Given the description of an element on the screen output the (x, y) to click on. 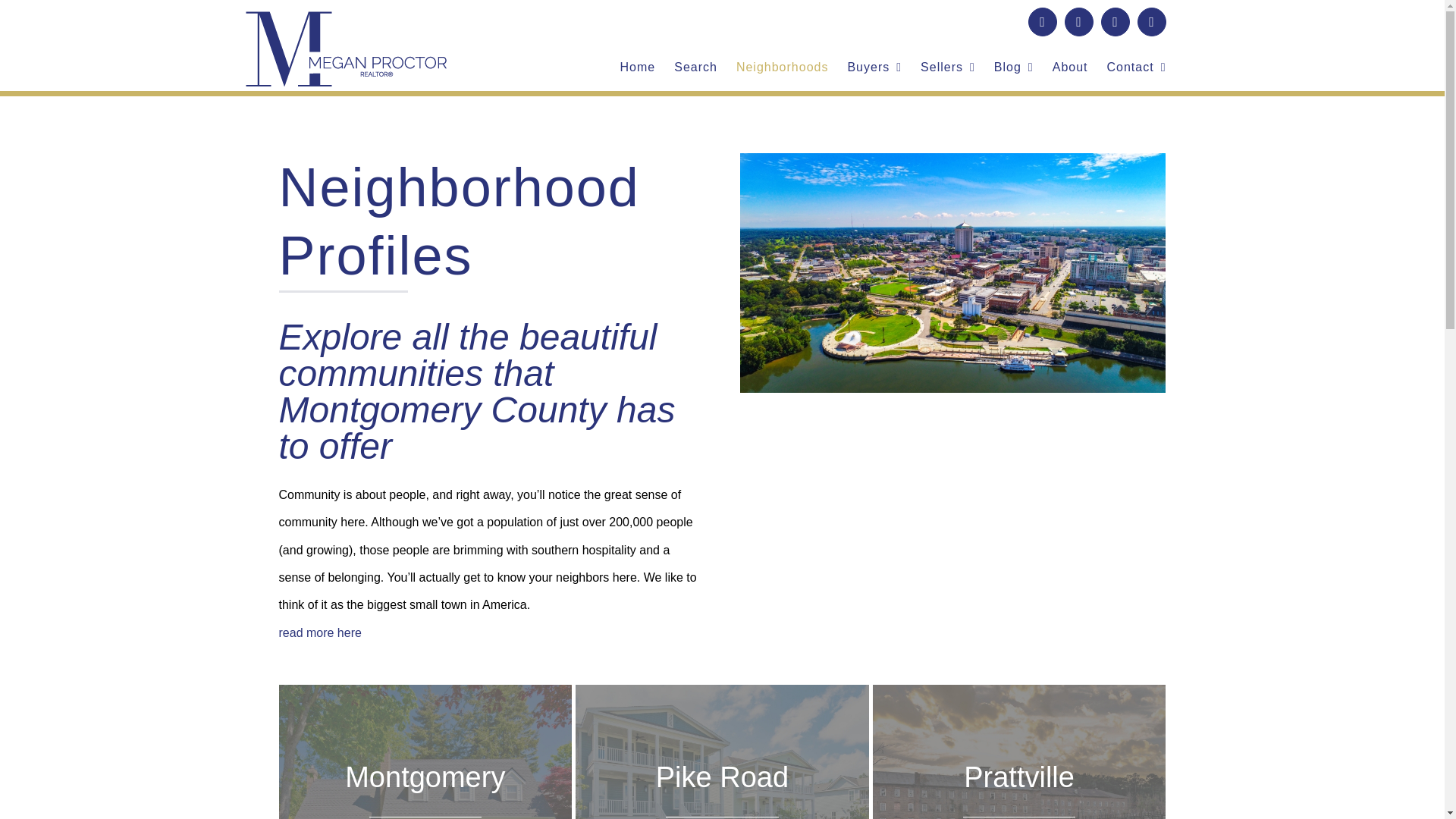
Contact (1136, 67)
LinkedIn (1151, 21)
Neighborhoods (782, 67)
Instagram (1078, 21)
Search (695, 67)
Email (1114, 21)
Sellers (947, 67)
Buyers (874, 67)
Facebook (1042, 21)
MontgomeryAL (952, 165)
